Given the description of an element on the screen output the (x, y) to click on. 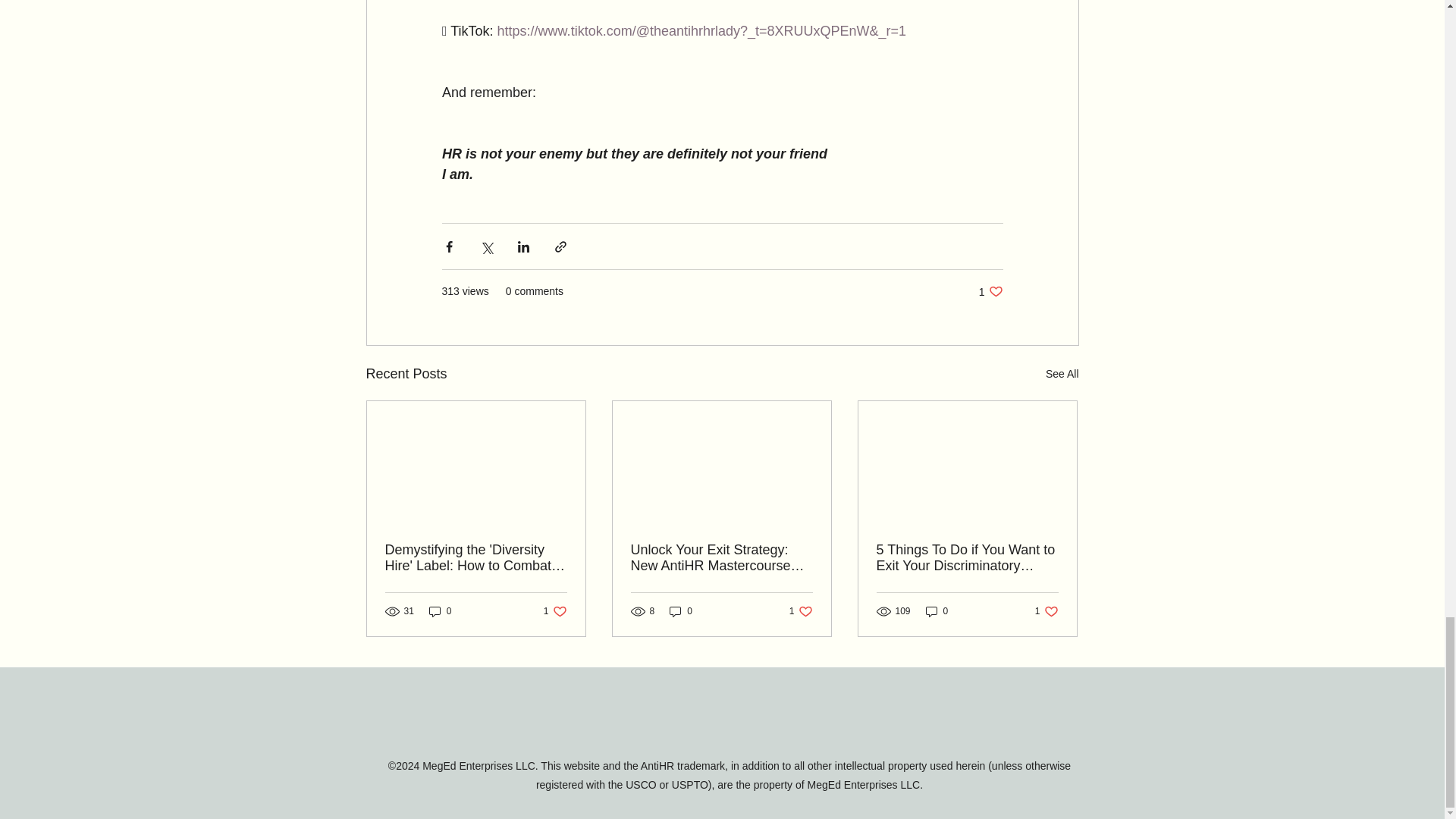
See All (1061, 373)
0 (1046, 611)
0 (555, 611)
0 (800, 611)
